Given the description of an element on the screen output the (x, y) to click on. 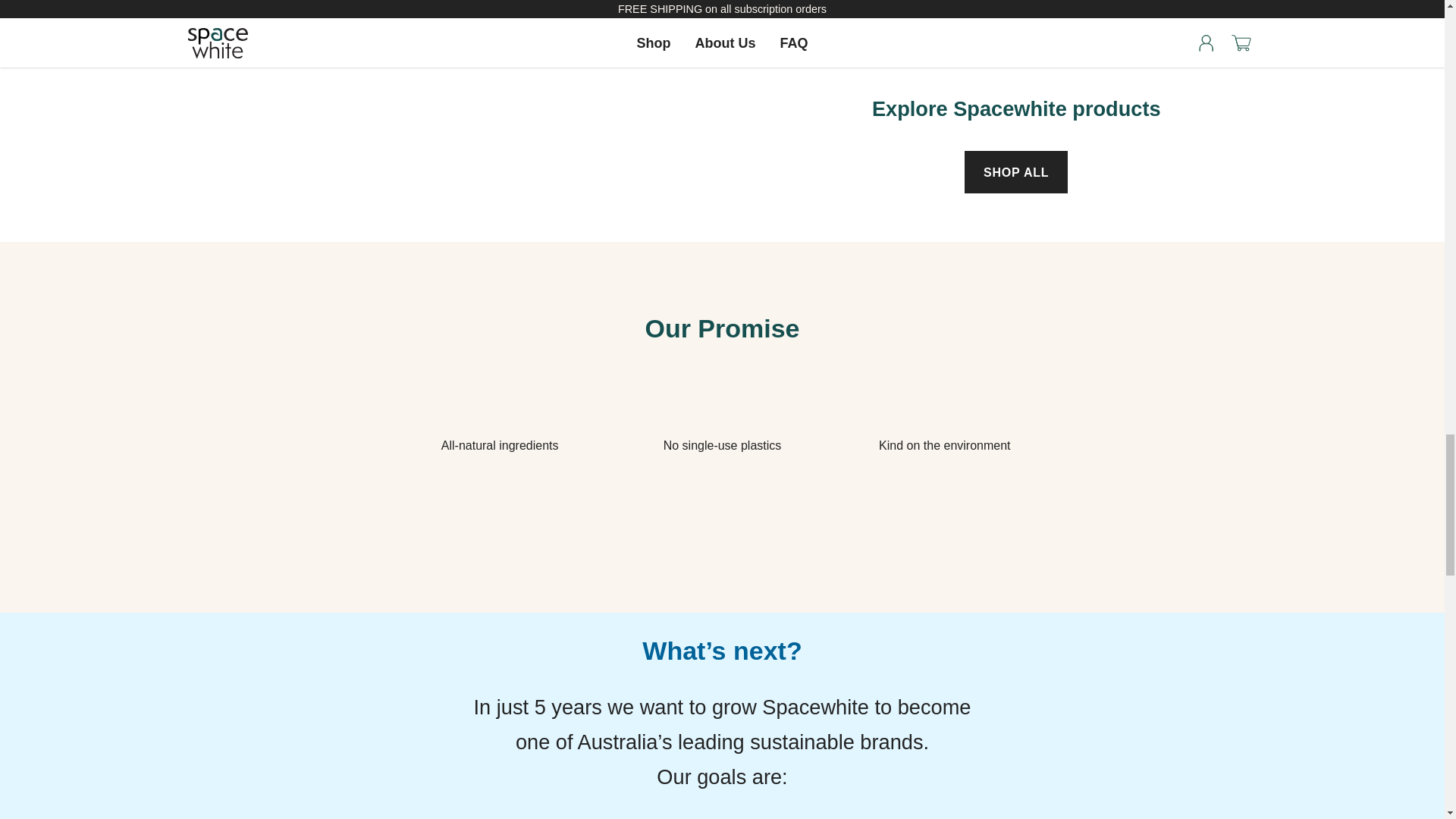
SHOP ALL (1015, 171)
